Given the description of an element on the screen output the (x, y) to click on. 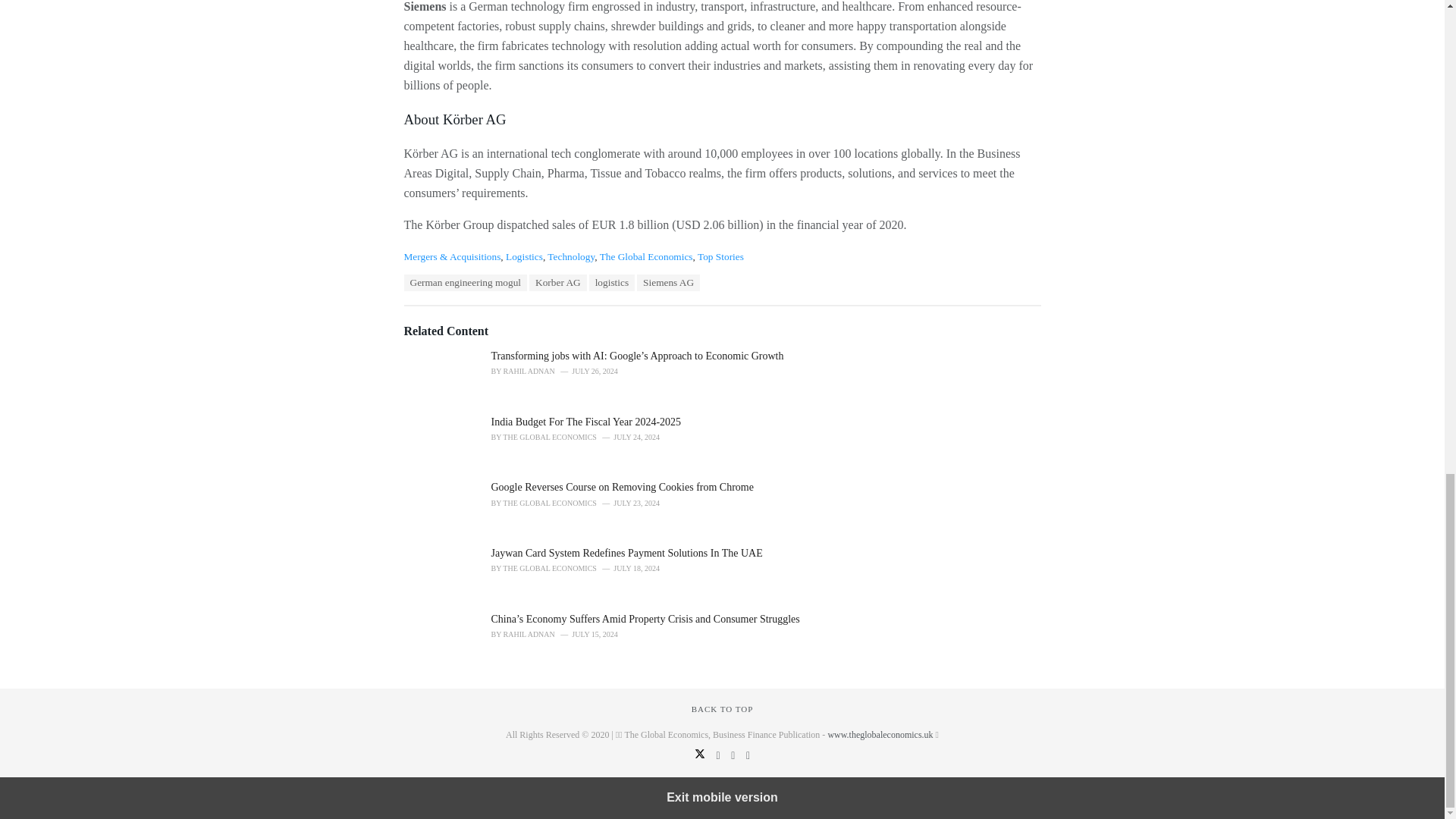
The Global Economics (646, 256)
Technology (570, 256)
German engineering mogul (465, 282)
Siemens AG (668, 282)
logistics (611, 282)
India Budget For The Fiscal Year 2024-2025  (588, 421)
Google Reverses Course on Removing Cookies from Chrome (623, 487)
BACK TO TOP (722, 708)
www.theglobaleconomics.uk (880, 734)
The Global Economics UK (880, 734)
Korber AG (557, 282)
Logistics (524, 256)
Top Stories (720, 256)
Jaywan Card System Redefines Payment Solutions In The UAE (627, 552)
